Given the description of an element on the screen output the (x, y) to click on. 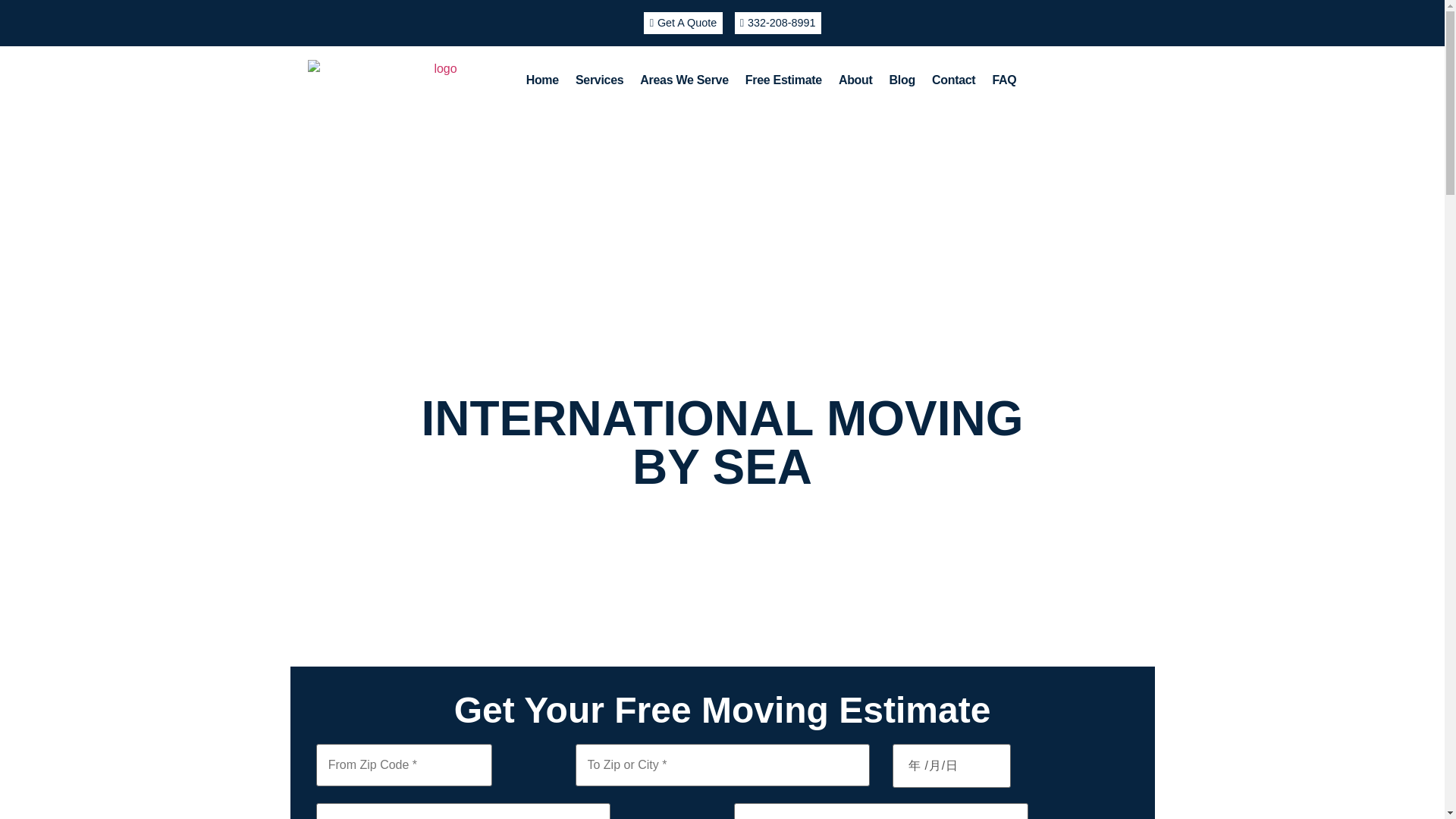
Free Estimate (782, 79)
About (854, 79)
Home (542, 79)
Blog (901, 79)
Services (599, 79)
332-208-8991 (777, 23)
Get A Quote (682, 23)
Contact (953, 79)
FAQ (1004, 79)
Areas We Serve (683, 79)
